Given the description of an element on the screen output the (x, y) to click on. 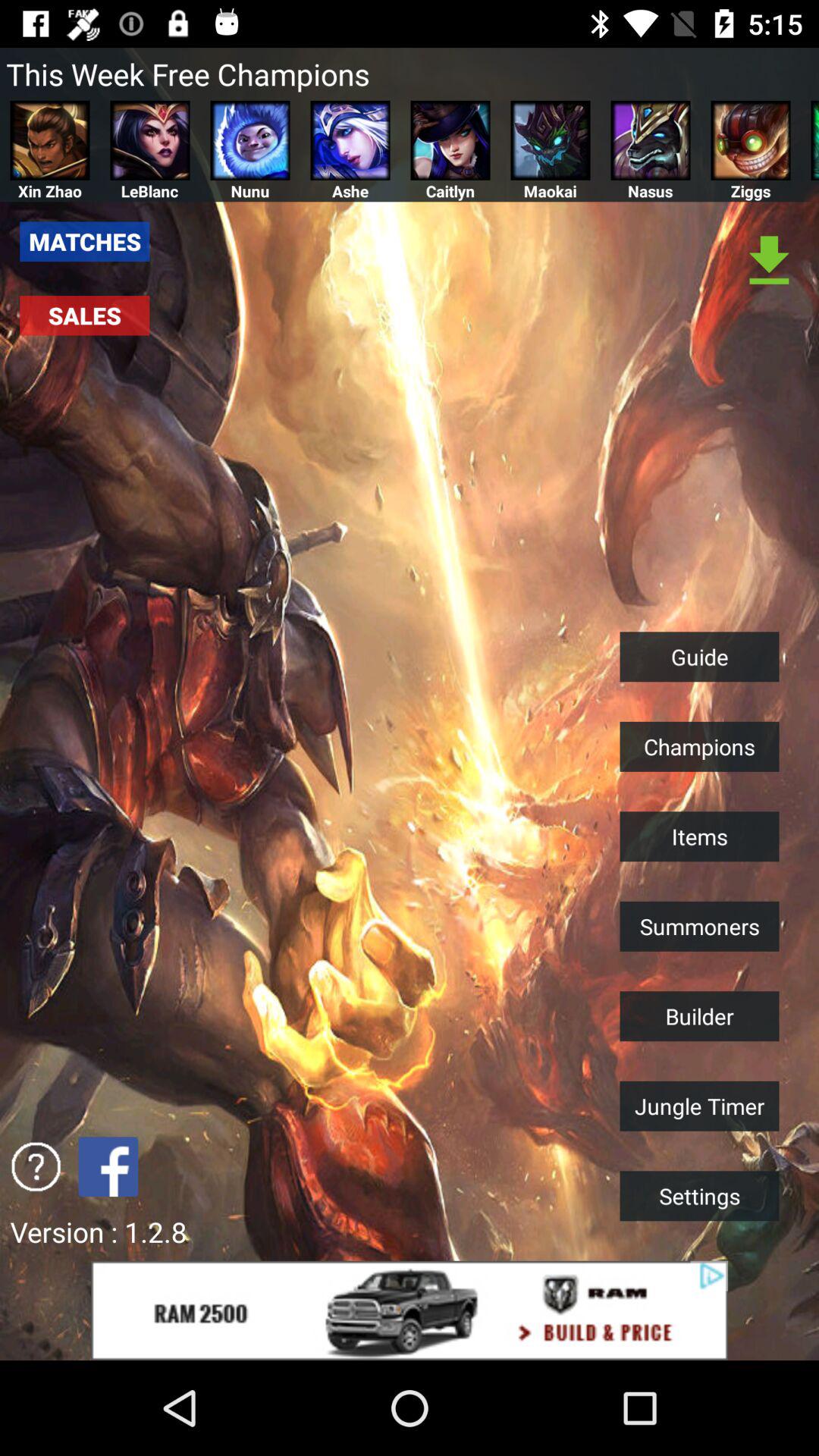
share the article (108, 1166)
